Given the description of an element on the screen output the (x, y) to click on. 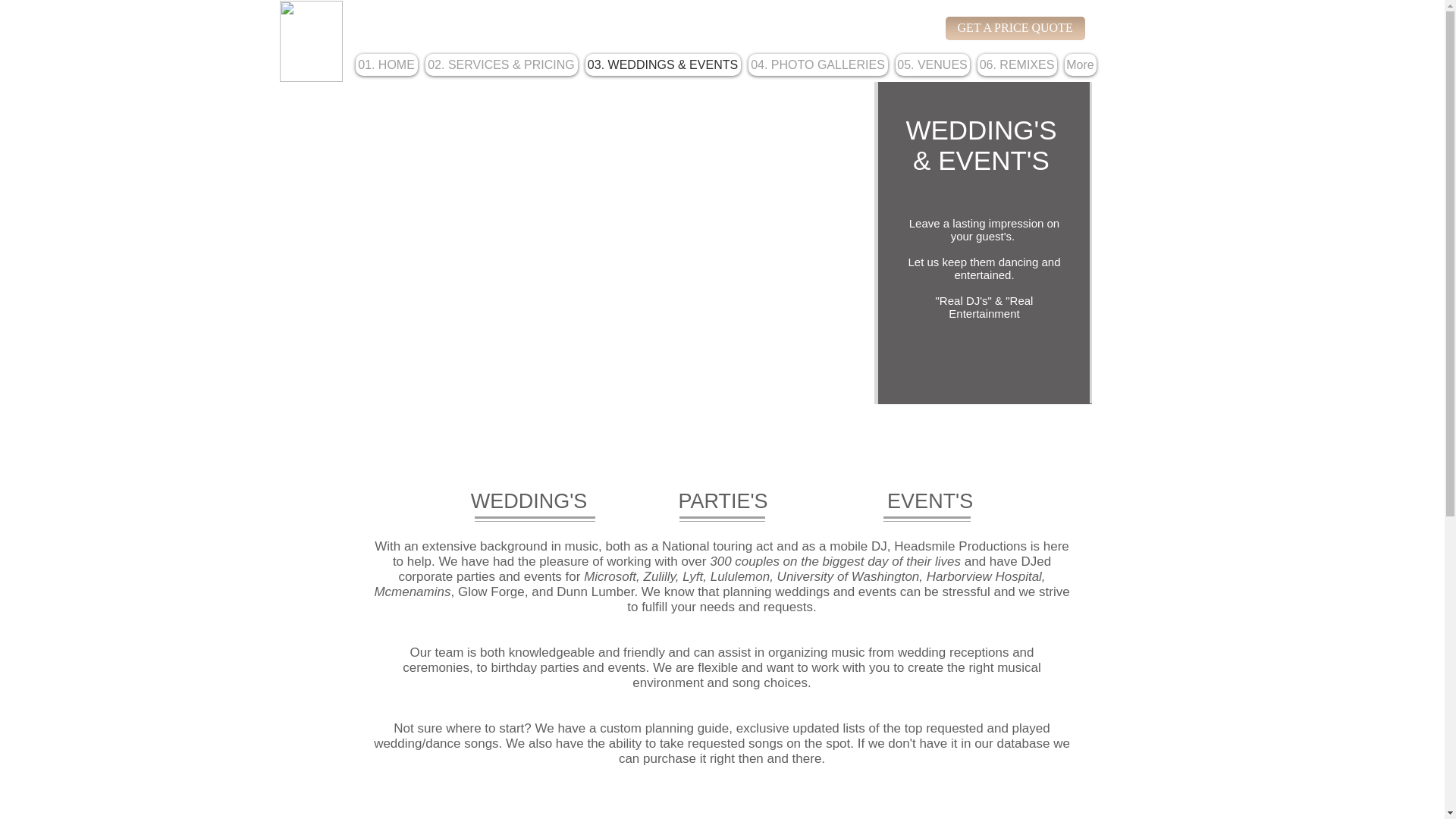
05. VENUES (932, 65)
04. PHOTO GALLERIES (817, 65)
06. REMIXES (1016, 65)
01. HOME (385, 65)
GET A PRICE QUOTE (1014, 28)
